Given the description of an element on the screen output the (x, y) to click on. 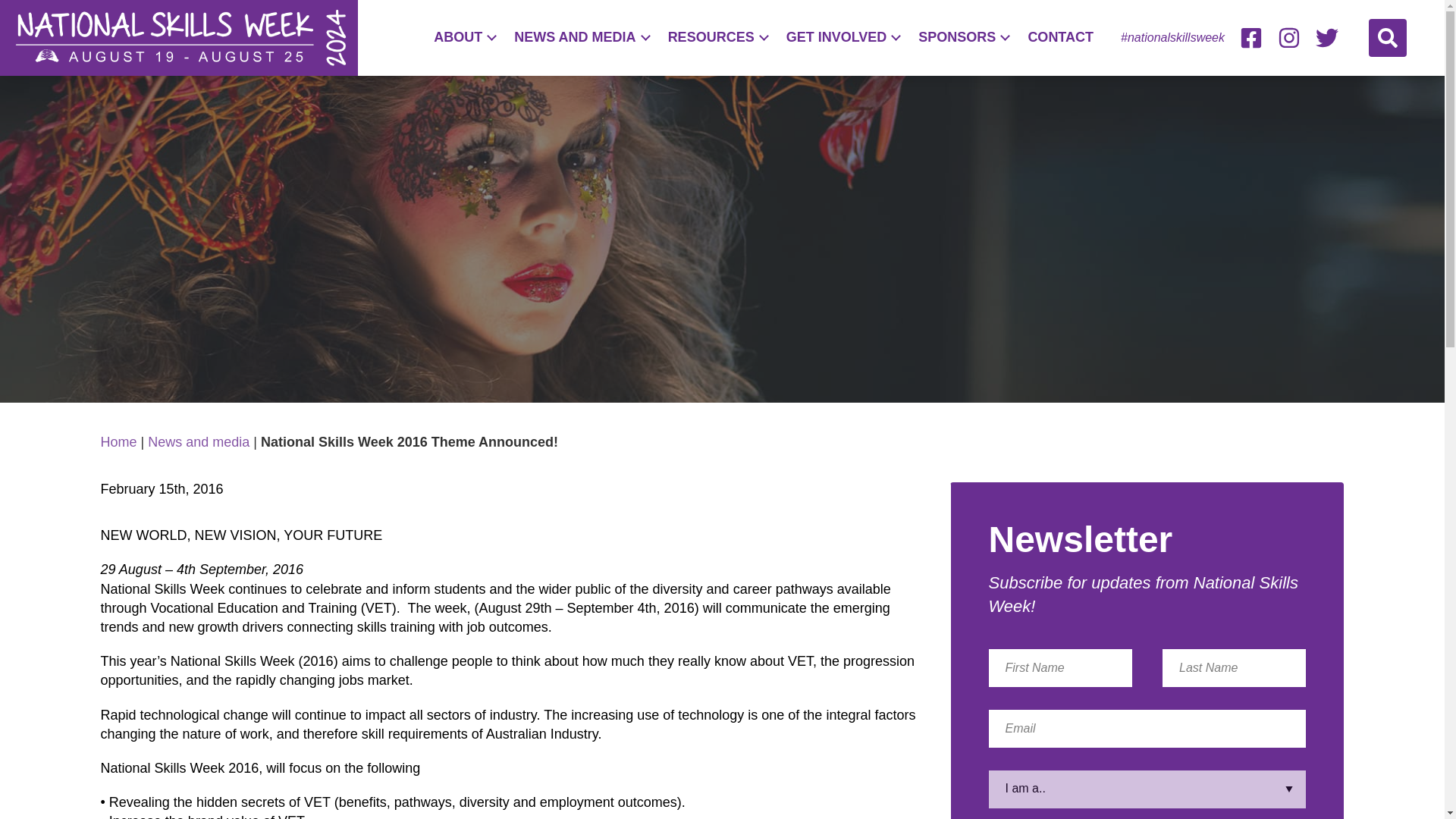
ABOUT (464, 37)
Facebook (1251, 37)
Instagram (1289, 37)
News and media (198, 441)
RESOURCES (717, 37)
Search (1387, 37)
Twitter (1327, 37)
GET INVOLVED (842, 37)
NEWS AND MEDIA (580, 37)
SPONSORS (963, 37)
